Given the description of an element on the screen output the (x, y) to click on. 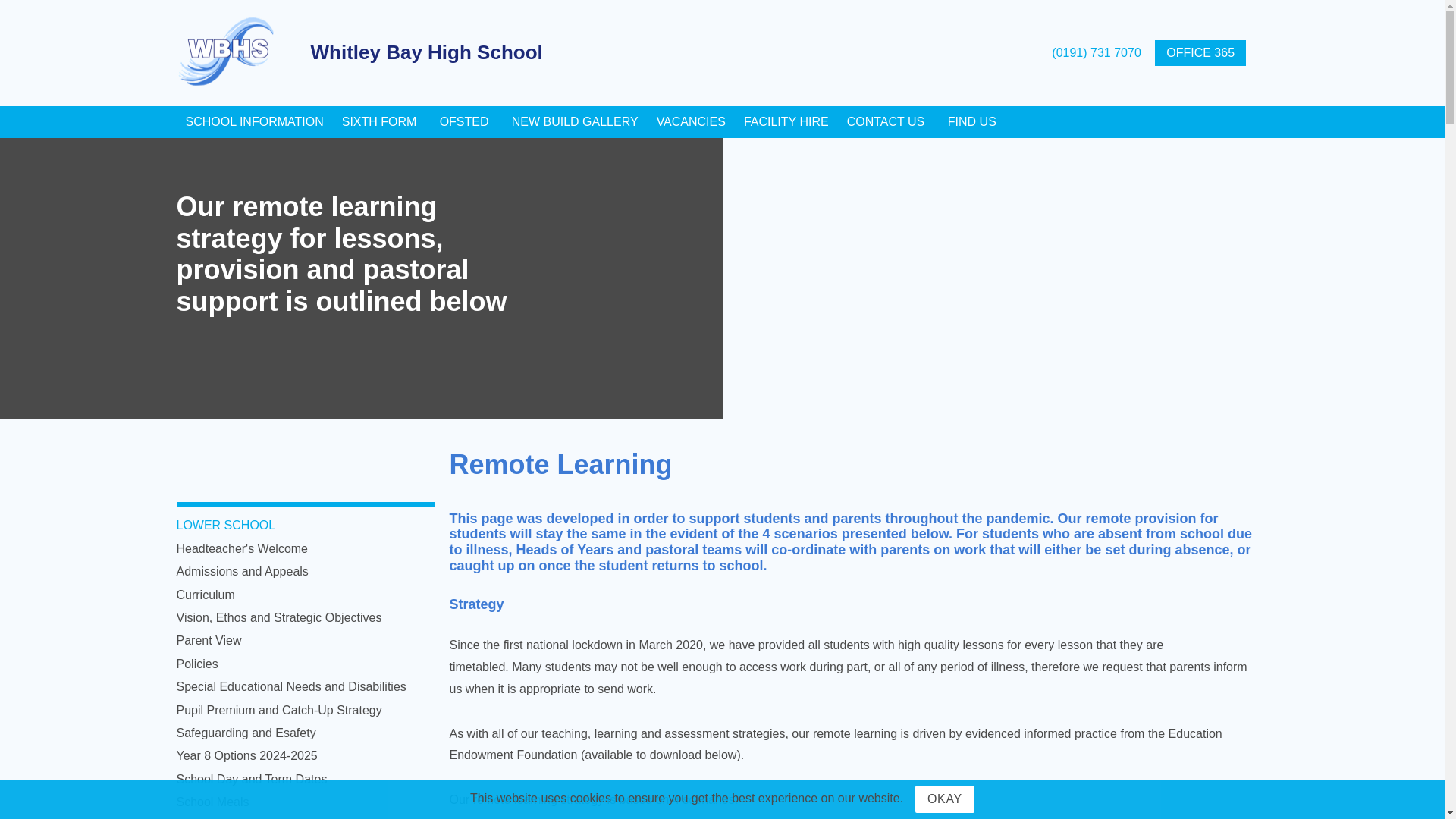
Governance (208, 818)
OFFICE 365 (1200, 53)
School Meals (212, 801)
Year 8 Options 2024-2025 (246, 755)
Special Educational Needs and Disabilities (291, 686)
Admissions and Appeals (241, 571)
School Day and Term Dates (251, 779)
SCHOOL INFORMATION (253, 122)
Headteacher's Welcome (241, 548)
Safeguarding and Esafety (245, 732)
